Given the description of an element on the screen output the (x, y) to click on. 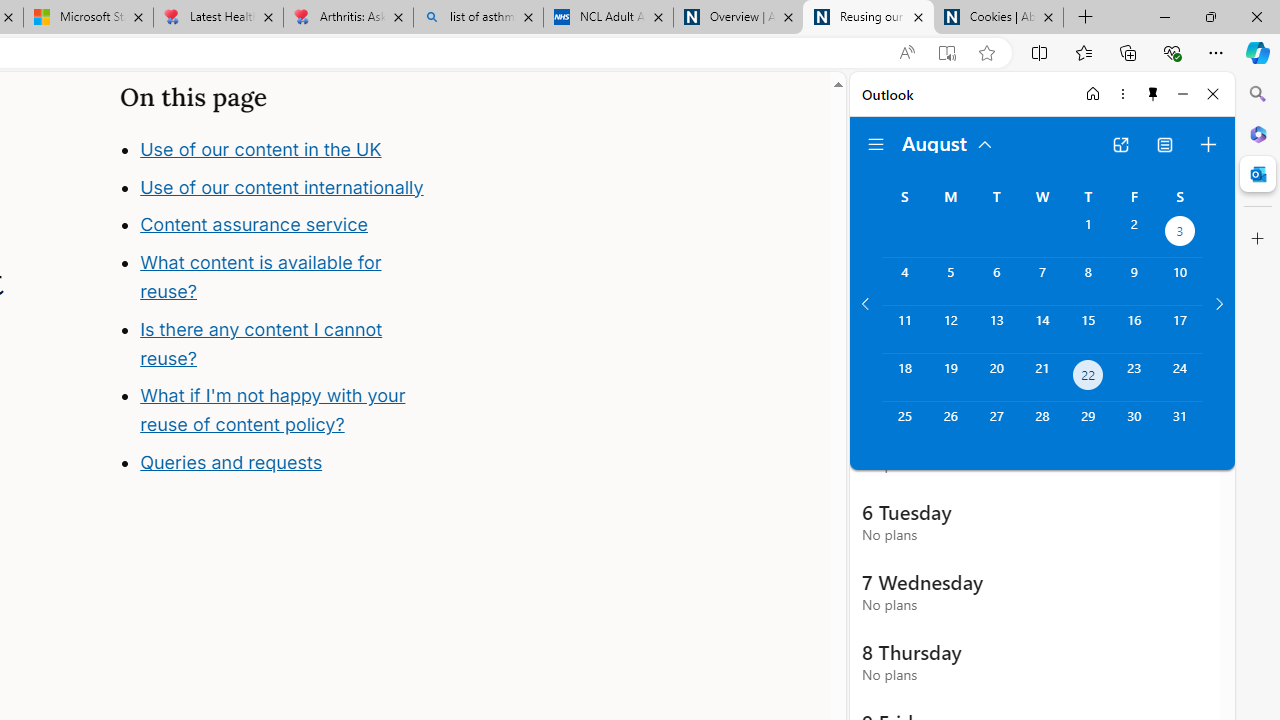
Use of our content in the UK (260, 148)
Friday, August 9, 2024.  (1134, 281)
Sunday, August 4, 2024.  (904, 281)
Thursday, August 15, 2024.  (1088, 329)
Thursday, August 29, 2024.  (1088, 425)
Friday, August 23, 2024.  (1134, 377)
Thursday, August 1, 2024.  (1088, 233)
Use of our content internationally (281, 186)
Arthritis: Ask Health Professionals (348, 17)
Saturday, August 3, 2024. Date selected.  (1180, 233)
